Given the description of an element on the screen output the (x, y) to click on. 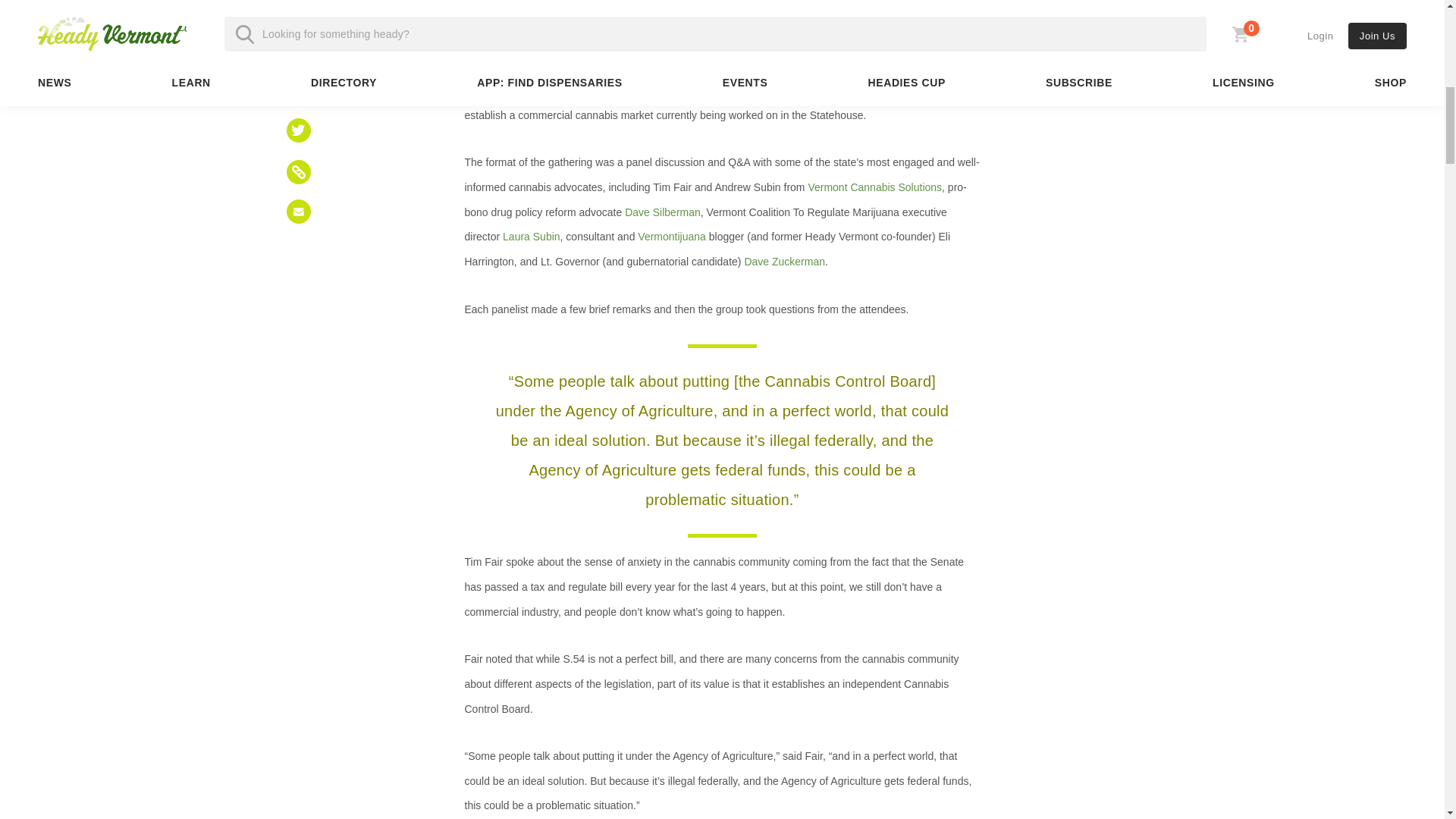
Vermontijuana (671, 236)
Share this post on Twitter (298, 129)
Laura Subin (531, 236)
Vermont Cannabis Solutions (875, 186)
Dave Silberman (662, 212)
Share this post on Facebook (298, 86)
Vermont Cannabis Organization (561, 18)
S.54 (896, 90)
Share this post via Email (298, 211)
Copy this post to your clipboard (298, 171)
Dave Zuckerman (784, 261)
